Given the description of an element on the screen output the (x, y) to click on. 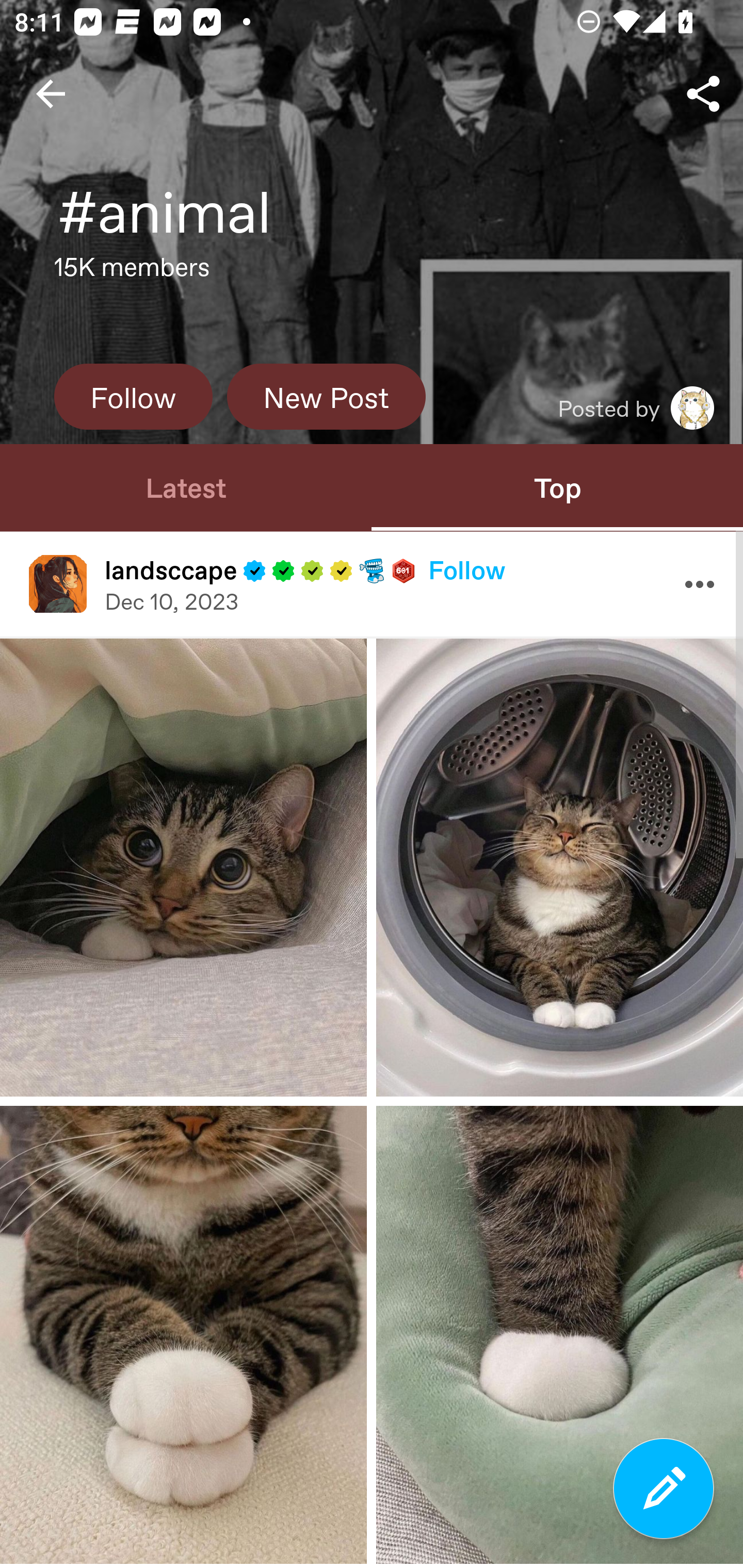
Navigate up (50, 93)
15K members (132, 272)
Follow (133, 396)
New Post (326, 396)
Latest (185, 486)
Follow (466, 569)
Compose a new post (663, 1488)
